Given the description of an element on the screen output the (x, y) to click on. 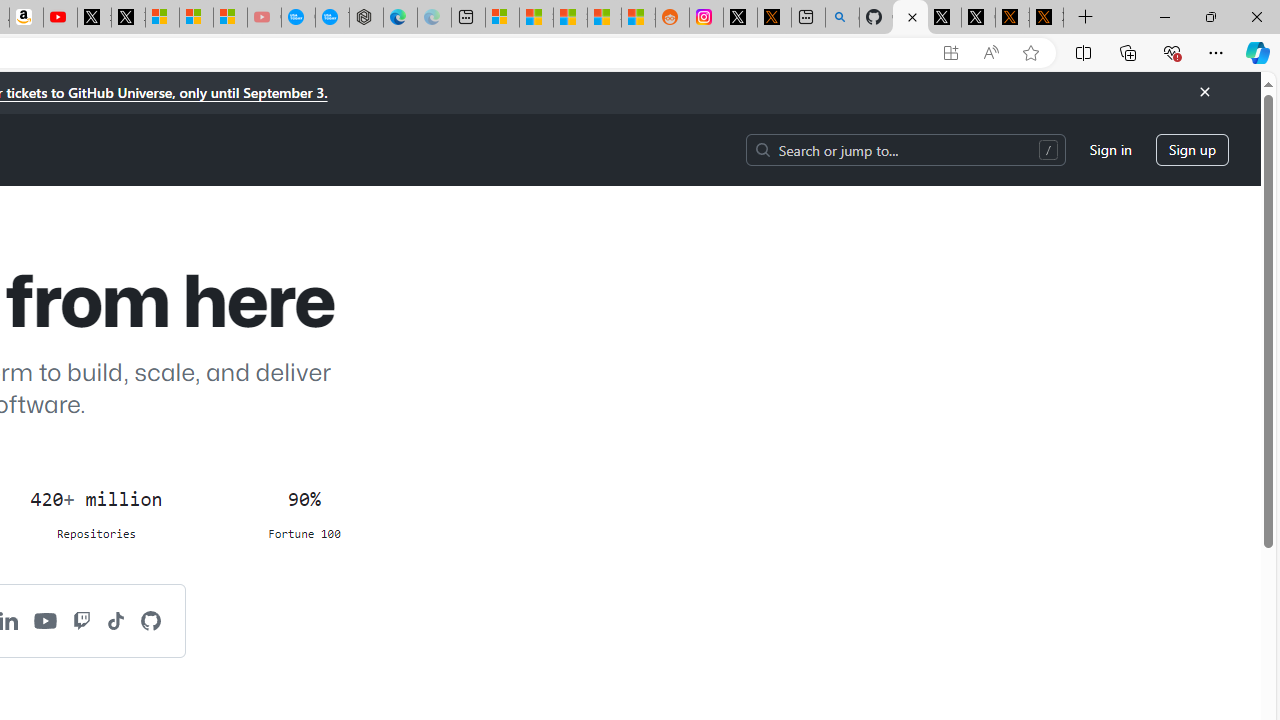
GitHub on TikTok (116, 620)
GitHub (@github) / X (978, 17)
GitHub on Twitch (82, 620)
X Privacy Policy (1046, 17)
App available. Install GitHub (950, 53)
